Given the description of an element on the screen output the (x, y) to click on. 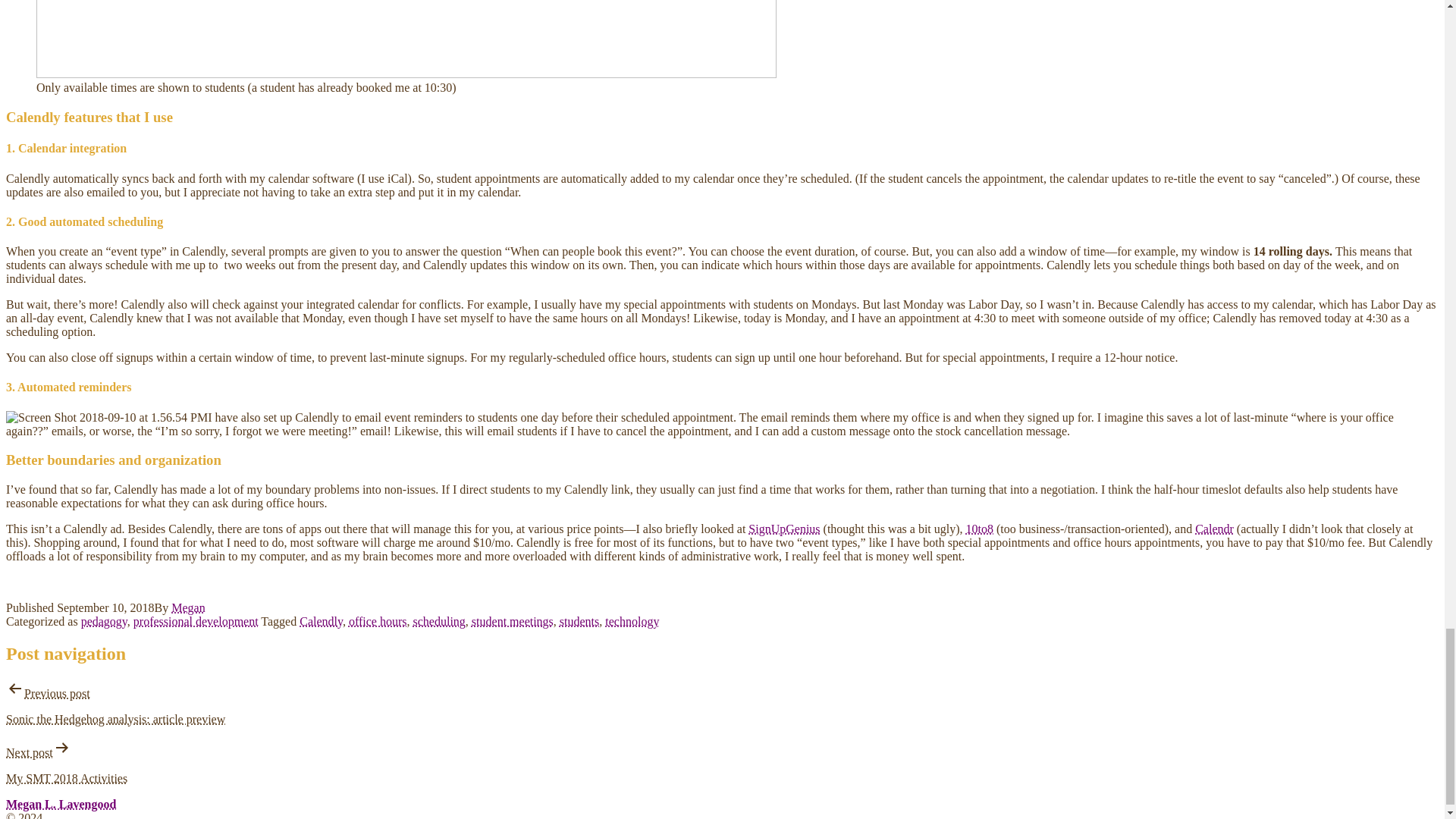
pedagogy (104, 621)
SignUpGenius (783, 528)
students (578, 621)
Calendr (1214, 528)
technology (632, 621)
Megan L. Lavengood (60, 803)
Megan (188, 607)
Calendly (320, 621)
office hours (378, 621)
10to8 (979, 528)
